Given the description of an element on the screen output the (x, y) to click on. 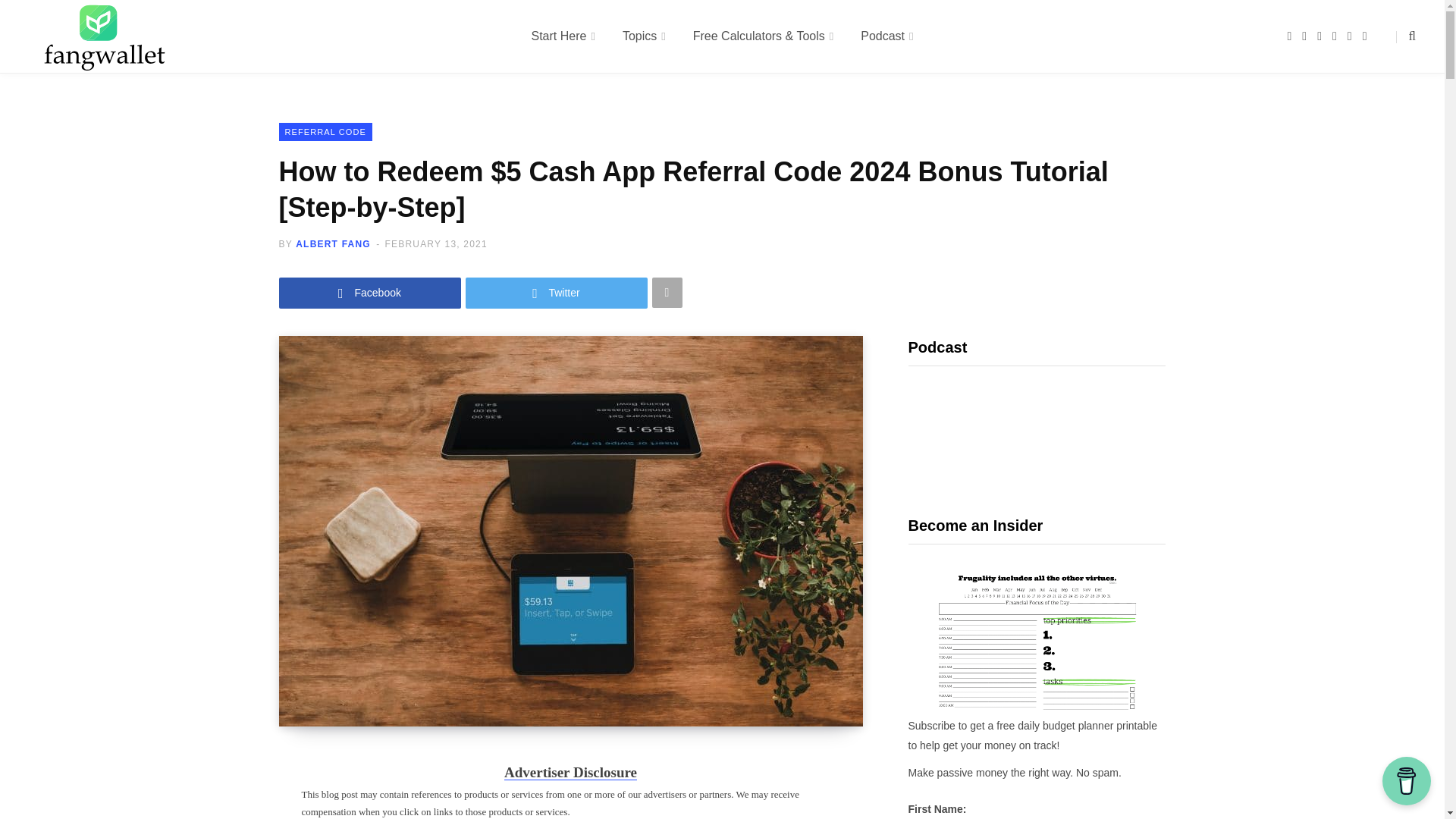
Start Here (562, 36)
FangWallet (104, 36)
